Given the description of an element on the screen output the (x, y) to click on. 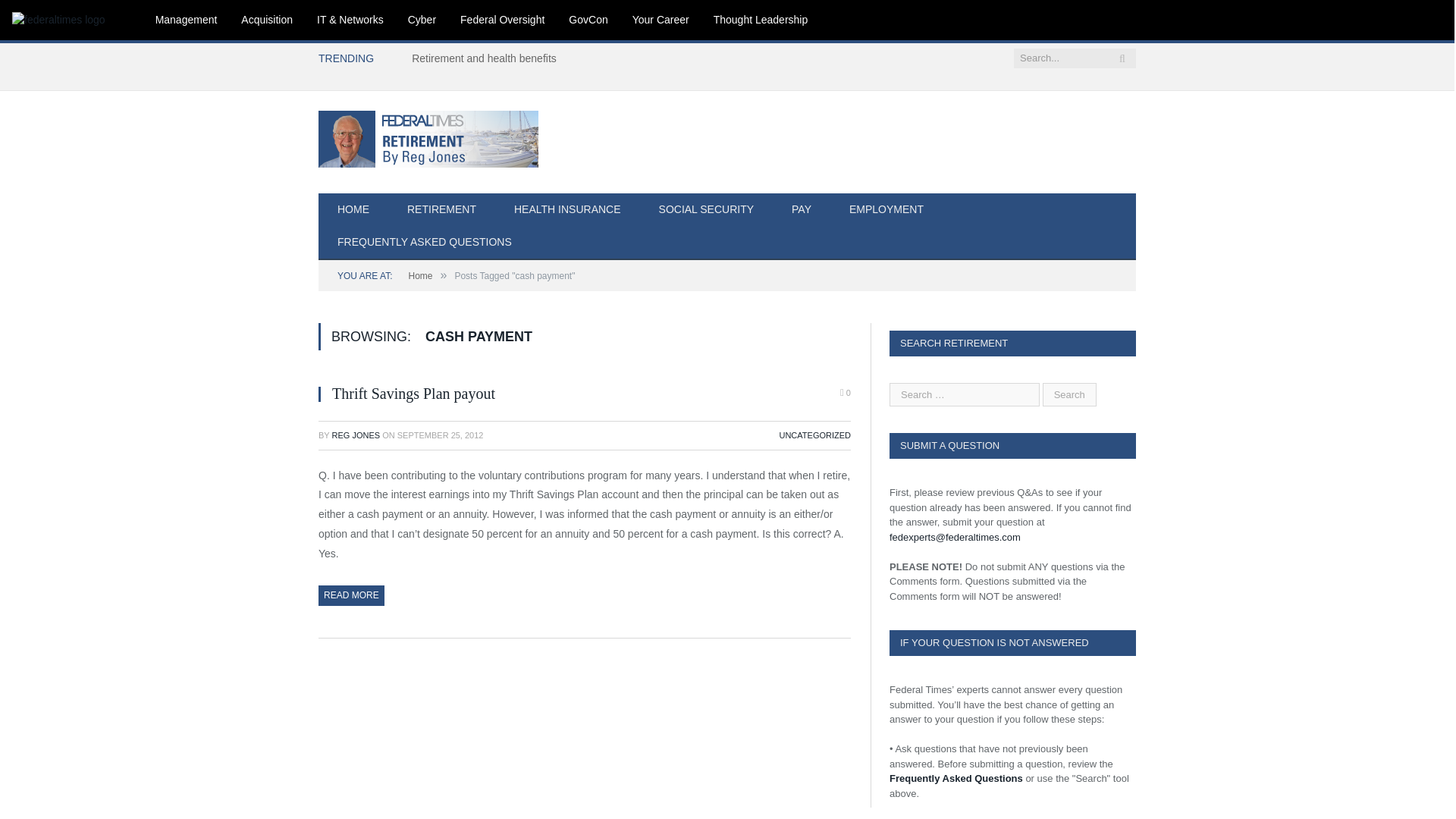
2012-09-25 (440, 434)
Search (1069, 394)
Thrift Savings Plan payout (413, 393)
RETIREMENT (441, 210)
GovCon (588, 19)
Acquisition (266, 19)
HEALTH INSURANCE (567, 210)
Read More (351, 595)
Federal Oversight (502, 19)
Management (186, 19)
FREQUENTLY ASKED QUESTIONS (424, 243)
Thought Leadership (761, 19)
SOCIAL SECURITY (706, 210)
Posts by Reg Jones (355, 434)
Ask The Experts: Retirement (428, 136)
